Given the description of an element on the screen output the (x, y) to click on. 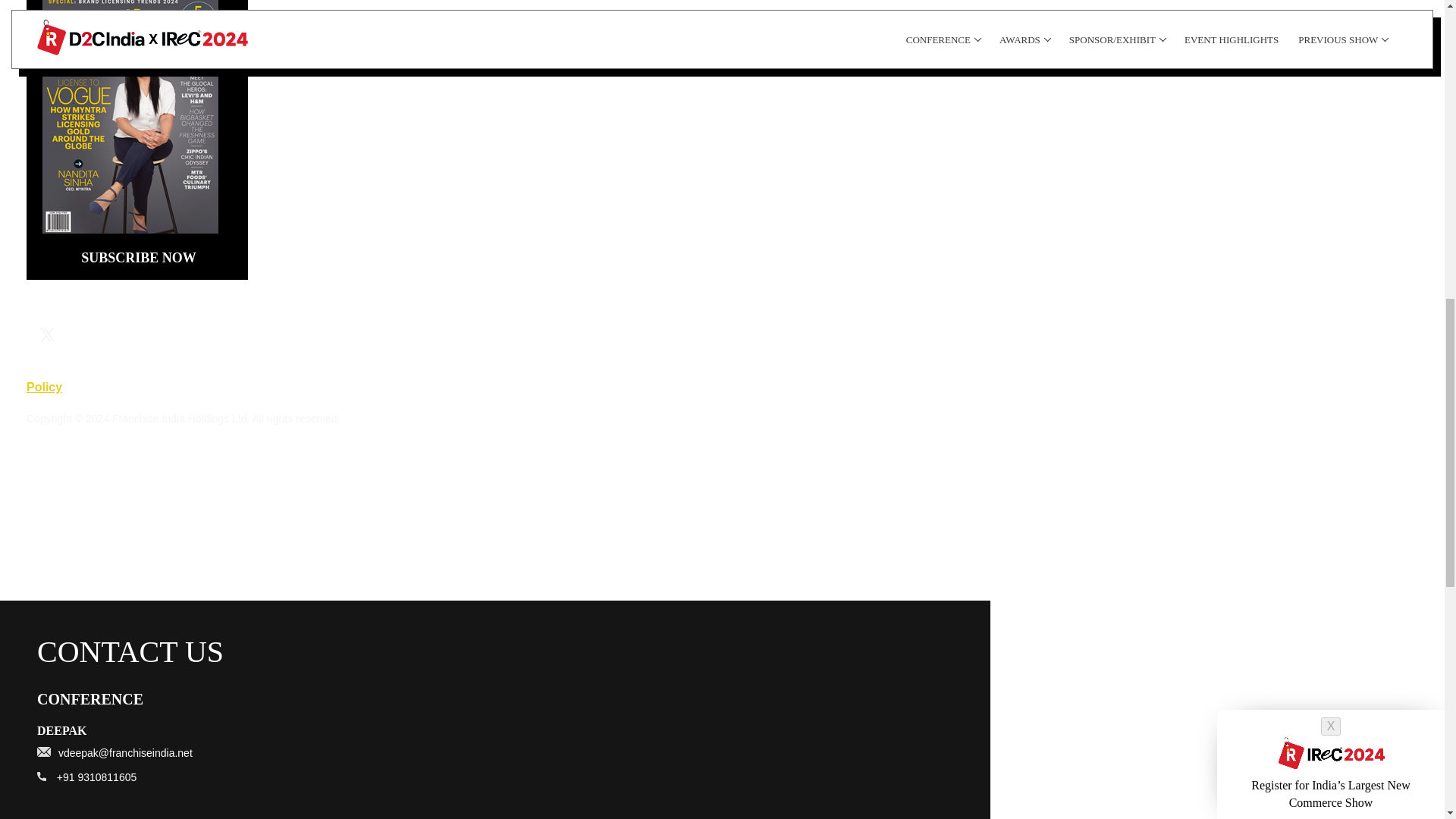
SUBSCRIBE NOW (138, 258)
